Given the description of an element on the screen output the (x, y) to click on. 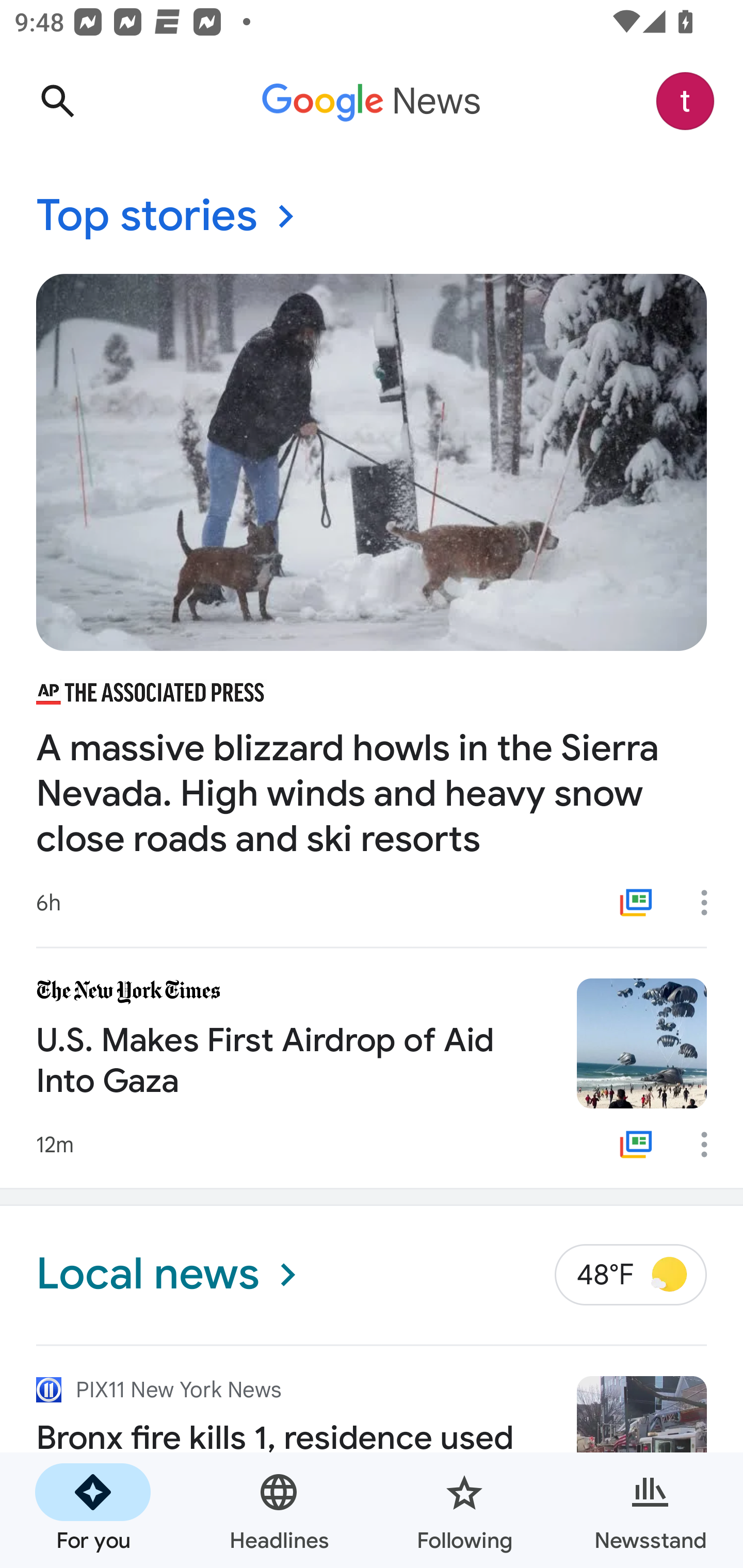
Search (57, 100)
Top stories (371, 216)
More options (711, 902)
More options (711, 1144)
For you (92, 1509)
Headlines (278, 1509)
Following (464, 1509)
Newsstand (650, 1509)
